Given the description of an element on the screen output the (x, y) to click on. 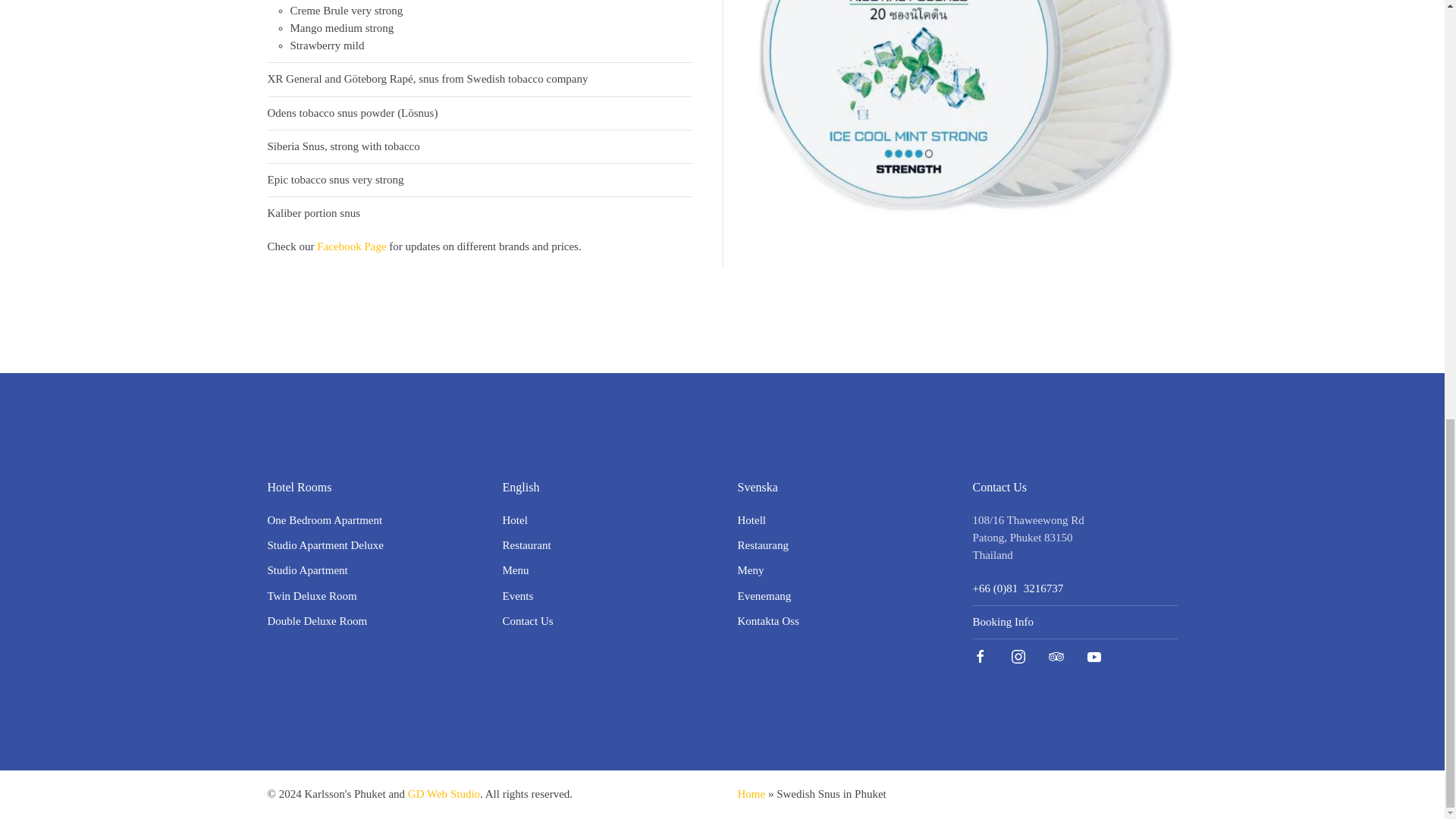
Twin Deluxe Room (311, 595)
Kontakta Oss (766, 621)
Studio Apartment Deluxe (324, 544)
Evenemang (763, 595)
Double Deluxe Room (316, 621)
Hotell (750, 520)
Restaurang (761, 544)
Restaurant (526, 544)
Facebook Page (351, 246)
Events (517, 595)
Contact Us (527, 621)
Meny (749, 570)
Hotel (514, 520)
One Bedroom Apartment (323, 520)
Studio Apartment (306, 570)
